Given the description of an element on the screen output the (x, y) to click on. 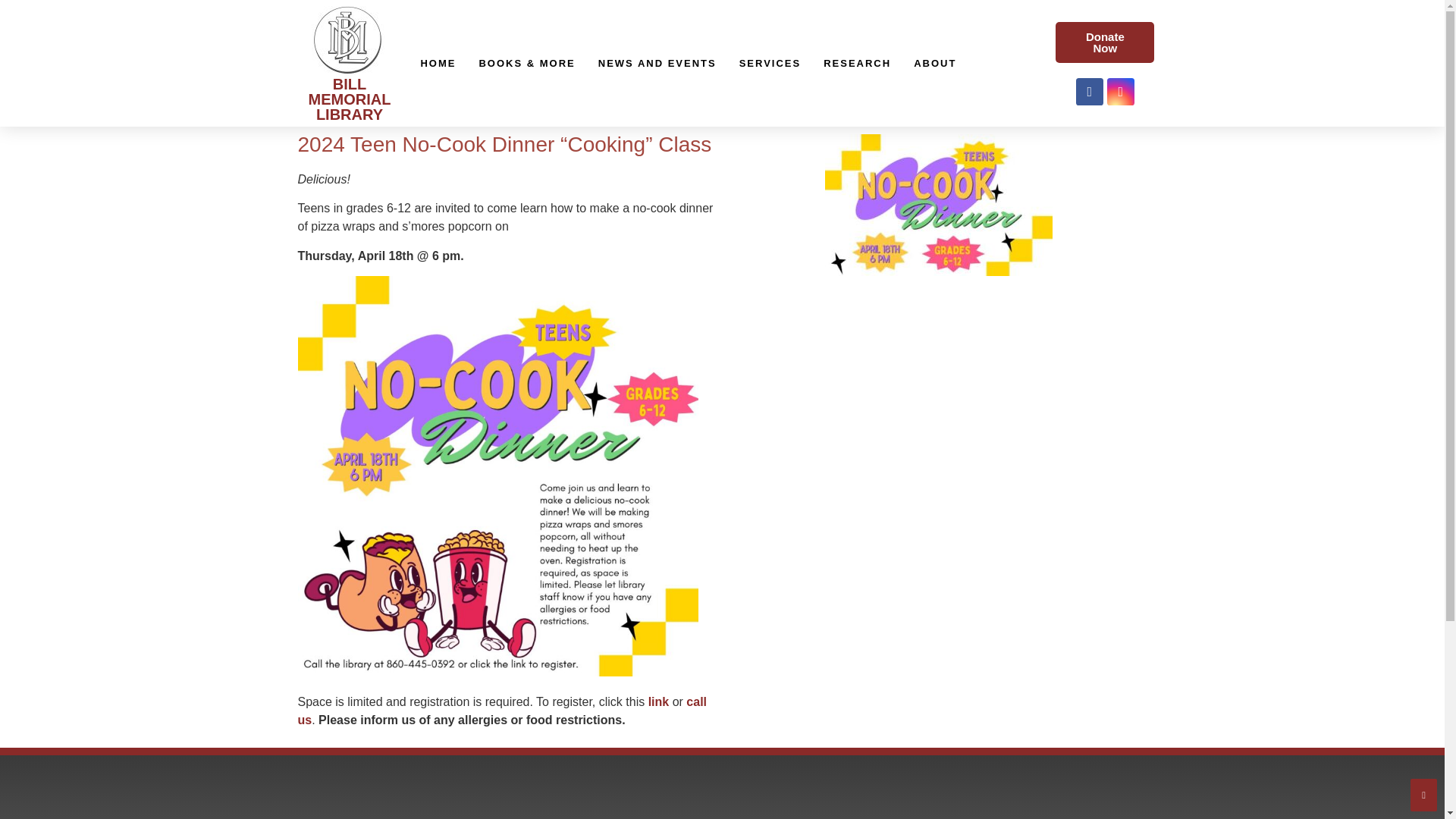
SERVICES (770, 63)
ABOUT (935, 63)
BILL MEMORIAL LIBRARY (349, 99)
NEWS AND EVENTS (657, 63)
HOME (438, 63)
logo (349, 38)
RESEARCH (857, 63)
